Given the description of an element on the screen output the (x, y) to click on. 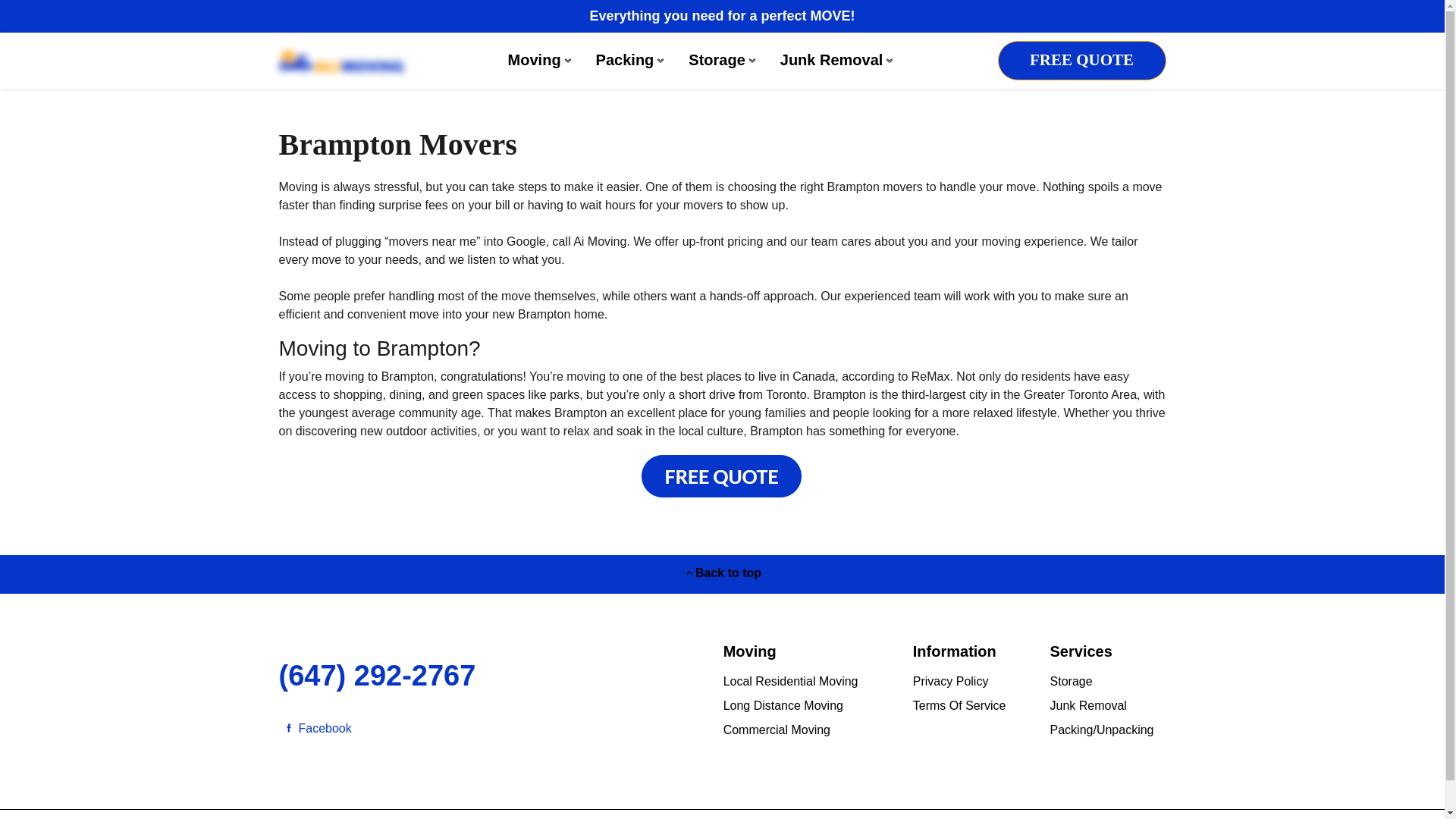
Storage (1071, 680)
Moving (540, 60)
Brampton Movers Free Quote (722, 495)
FREE QUOTE (1081, 60)
Long Distance Moving (783, 705)
Terms Of Service (959, 705)
Packing (630, 60)
Junk Removal (1087, 705)
Facebook (315, 728)
Storage (721, 60)
